Given the description of an element on the screen output the (x, y) to click on. 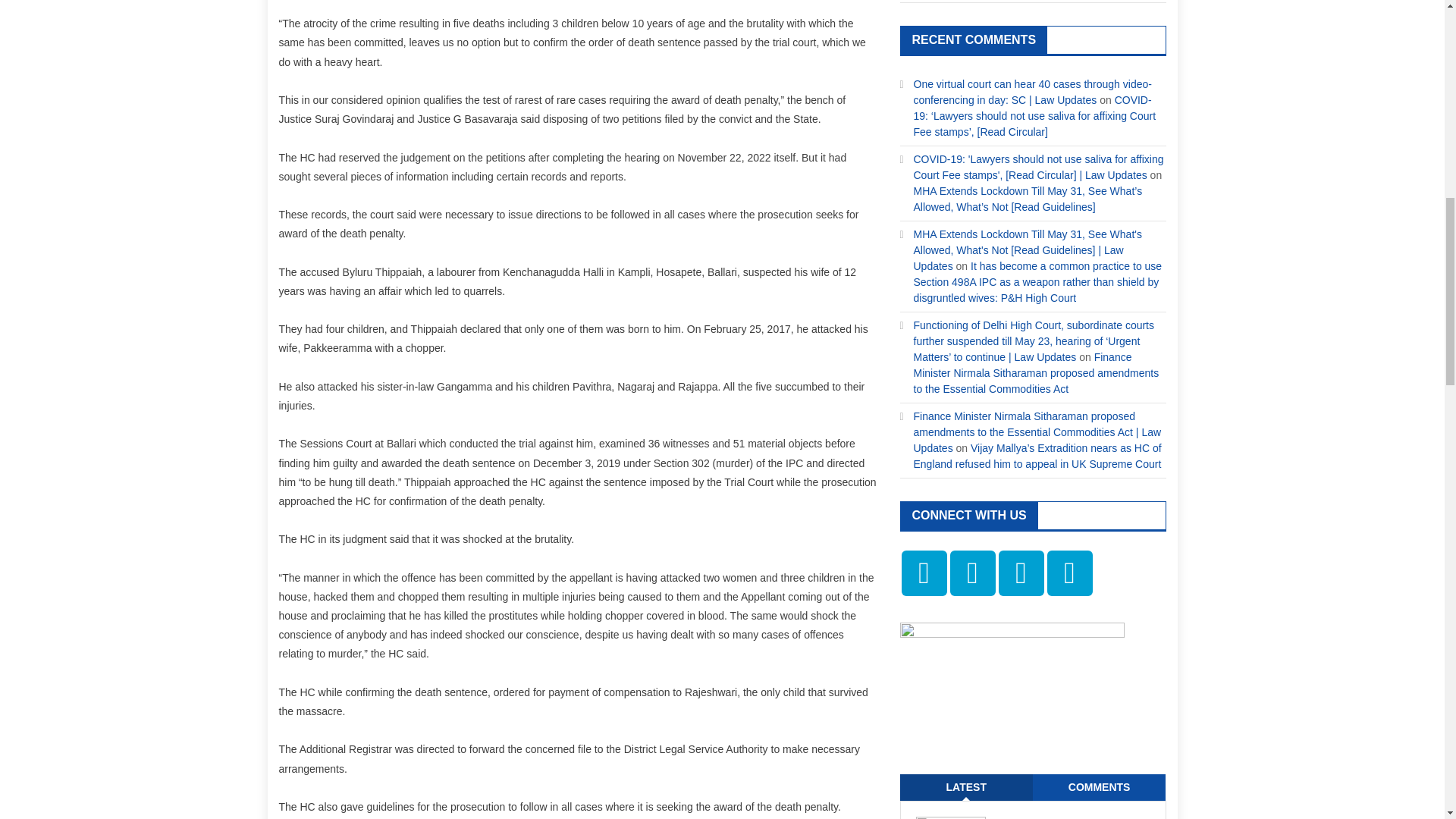
Social Media Icons (1020, 573)
Social Media Icons (971, 573)
Social Media Icons (923, 573)
Social Media Icons (1069, 573)
